Given the description of an element on the screen output the (x, y) to click on. 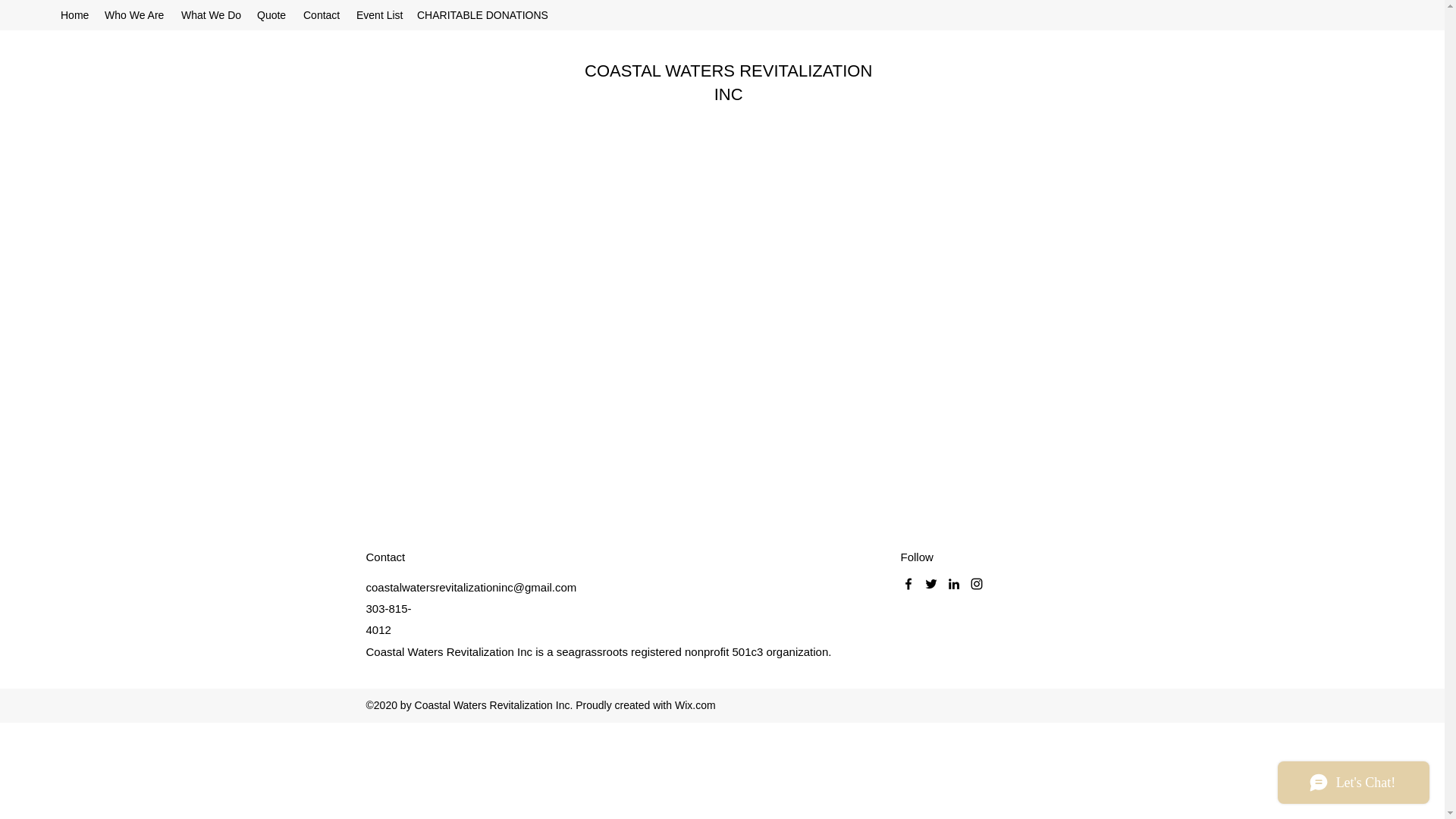
Quote (271, 15)
Contact (322, 15)
CHARITABLE DONATIONS (481, 15)
Home (74, 15)
What We Do (210, 15)
Event List (379, 15)
Who We Are (135, 15)
COASTAL WATERS REVITALIZATION INC (728, 82)
